Given the description of an element on the screen output the (x, y) to click on. 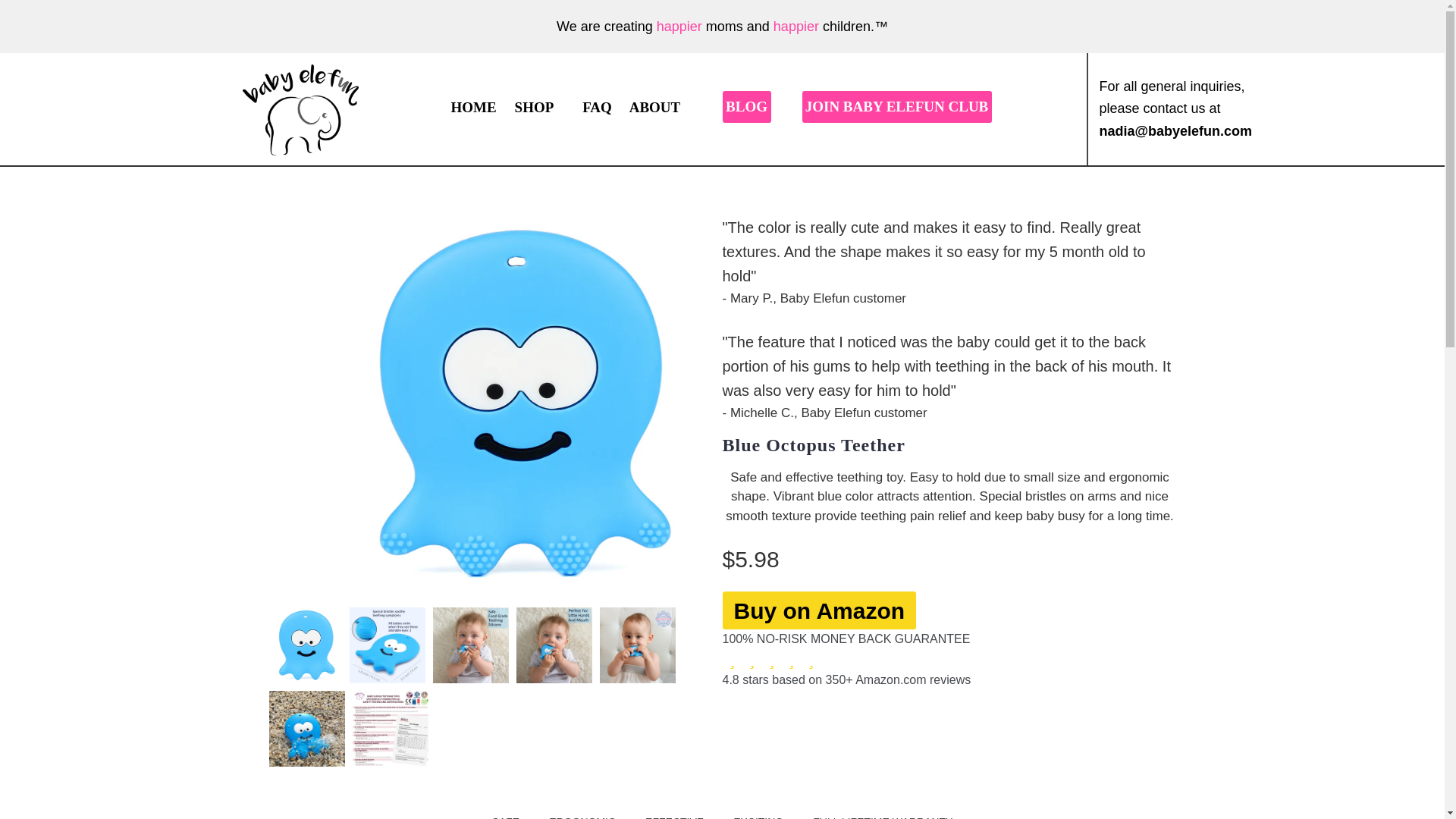
Blue Octopus Teether (813, 445)
SHOP (533, 107)
JOIN BABY ELEFUN CLUB (896, 106)
Buy on Amazon (818, 610)
HOME (473, 107)
FAQ (596, 107)
BLOG (746, 106)
ABOUT (654, 107)
